Given the description of an element on the screen output the (x, y) to click on. 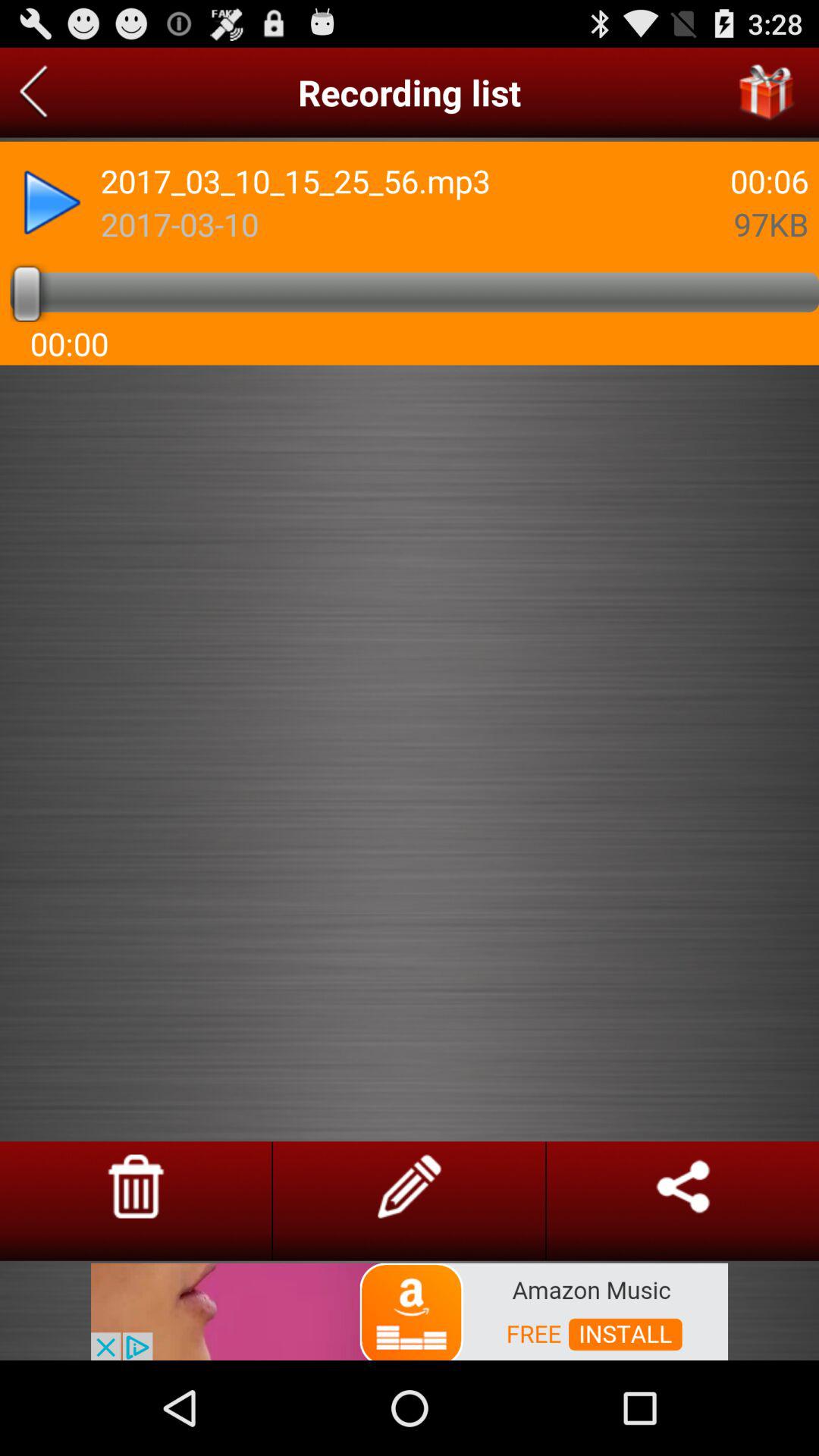
go to next (52, 202)
